Given the description of an element on the screen output the (x, y) to click on. 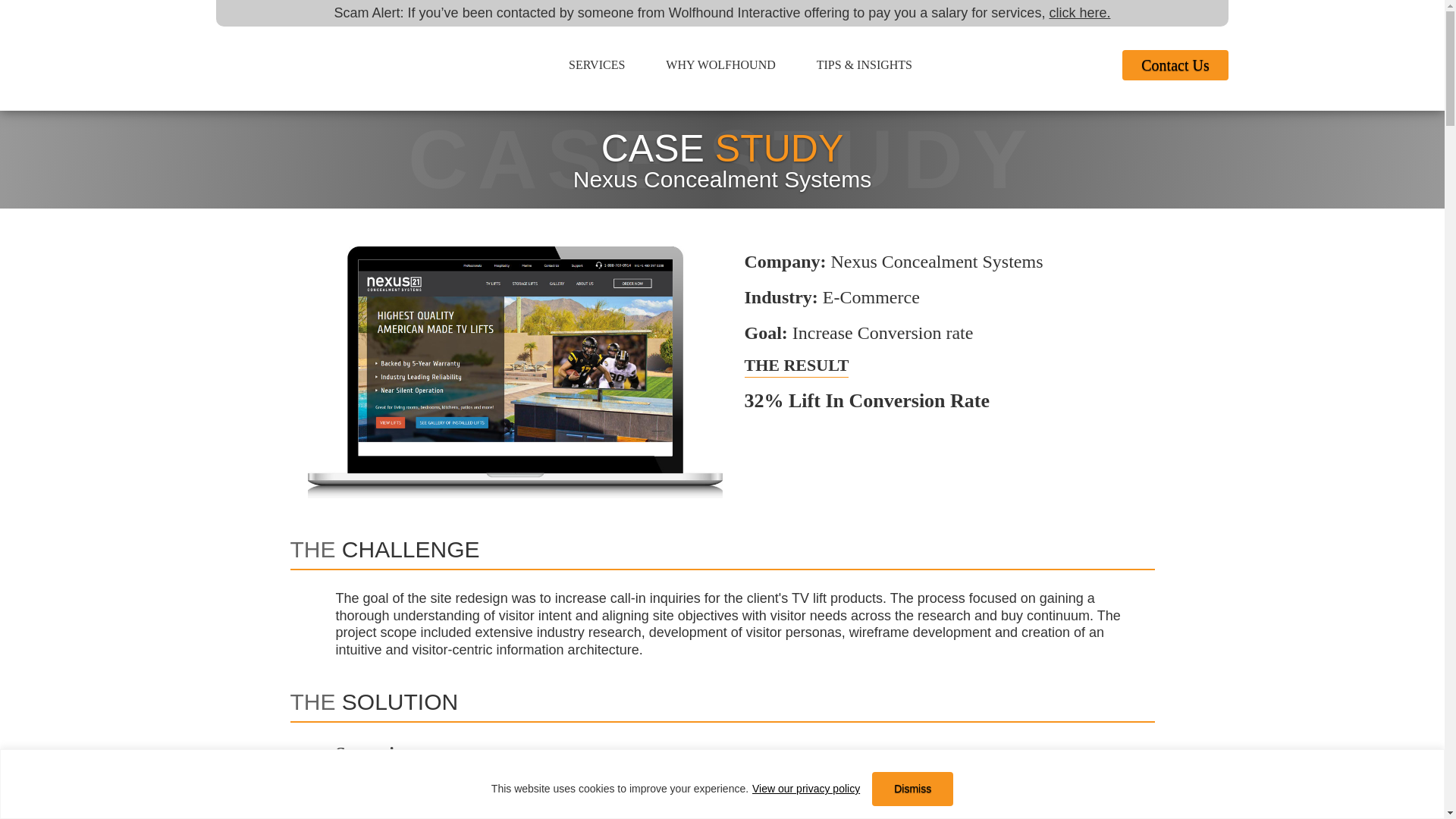
Contact Us (1175, 64)
Dismiss (912, 788)
SERVICES (596, 65)
WOLFHOUND INTERACTIVE (286, 67)
View our privacy policy (805, 788)
WHY WOLFHOUND (719, 65)
